Given the description of an element on the screen output the (x, y) to click on. 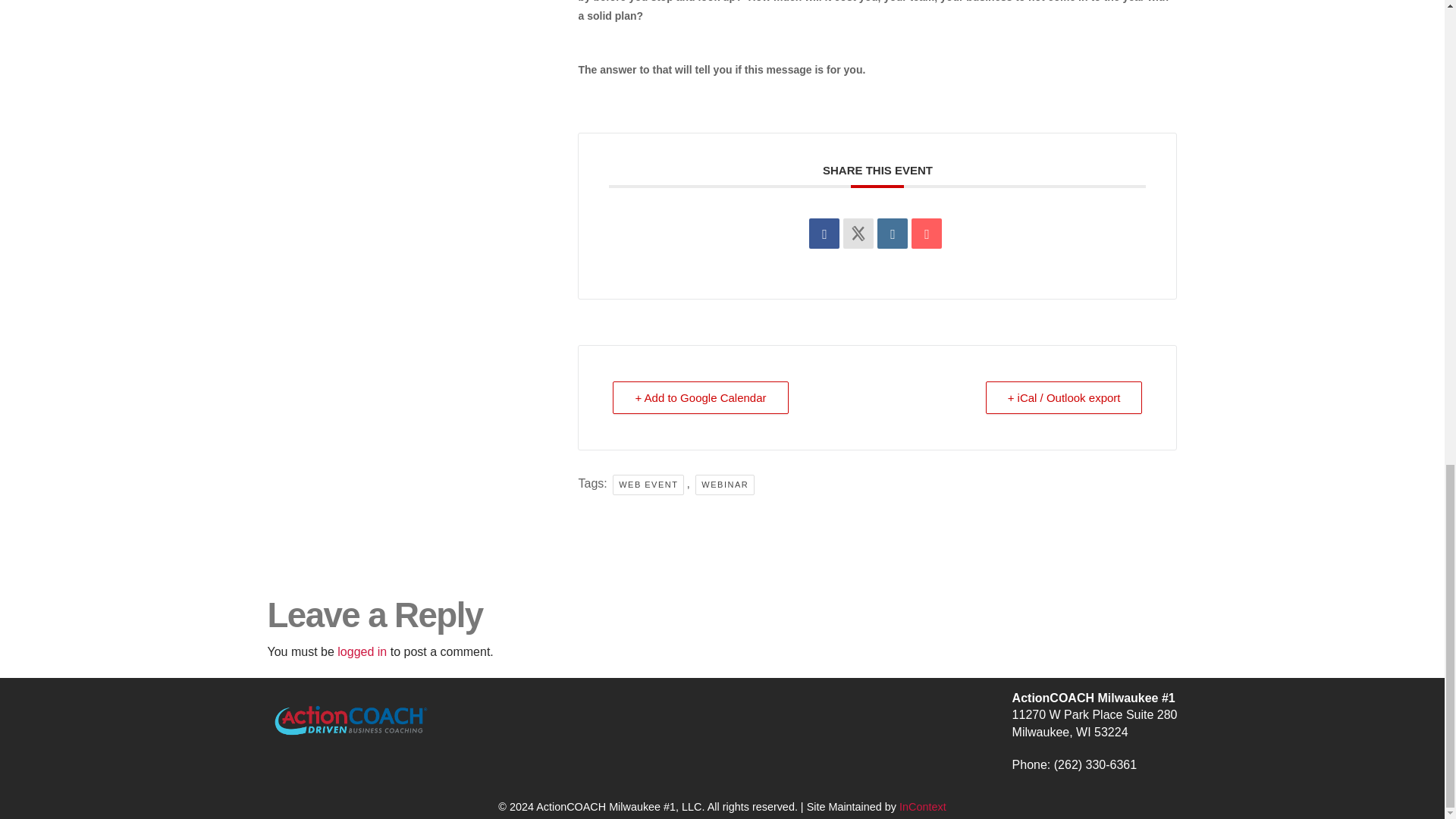
Email (926, 233)
logged in (362, 651)
Share on Facebook (824, 233)
InContext (922, 806)
X Social Network (858, 233)
WEB EVENT (648, 485)
WEBINAR (724, 485)
Linkedin (892, 233)
